Given the description of an element on the screen output the (x, y) to click on. 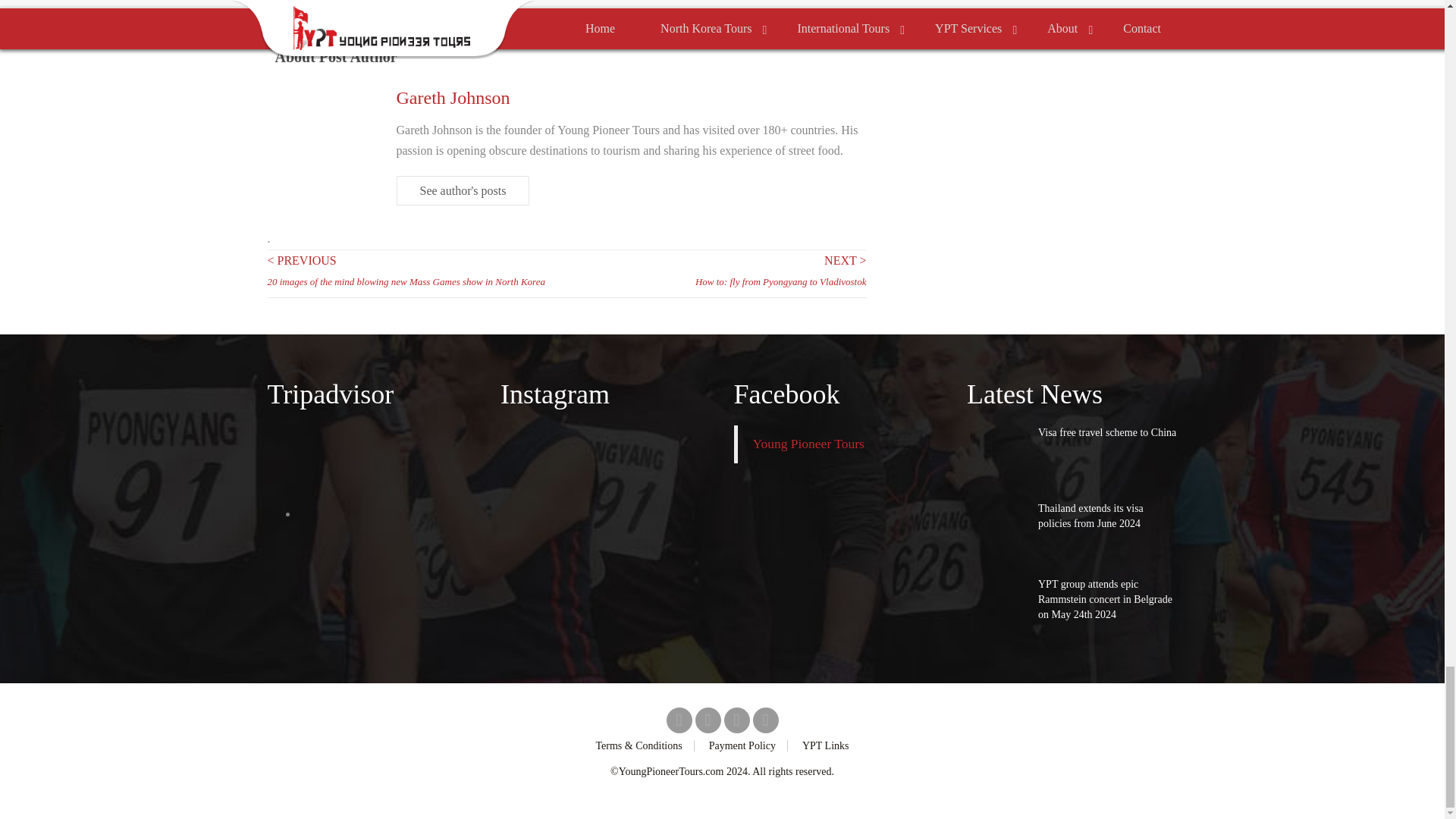
YouTube (764, 720)
Twitter (707, 720)
Facebook (678, 720)
LinkedIn (736, 720)
